Given the description of an element on the screen output the (x, y) to click on. 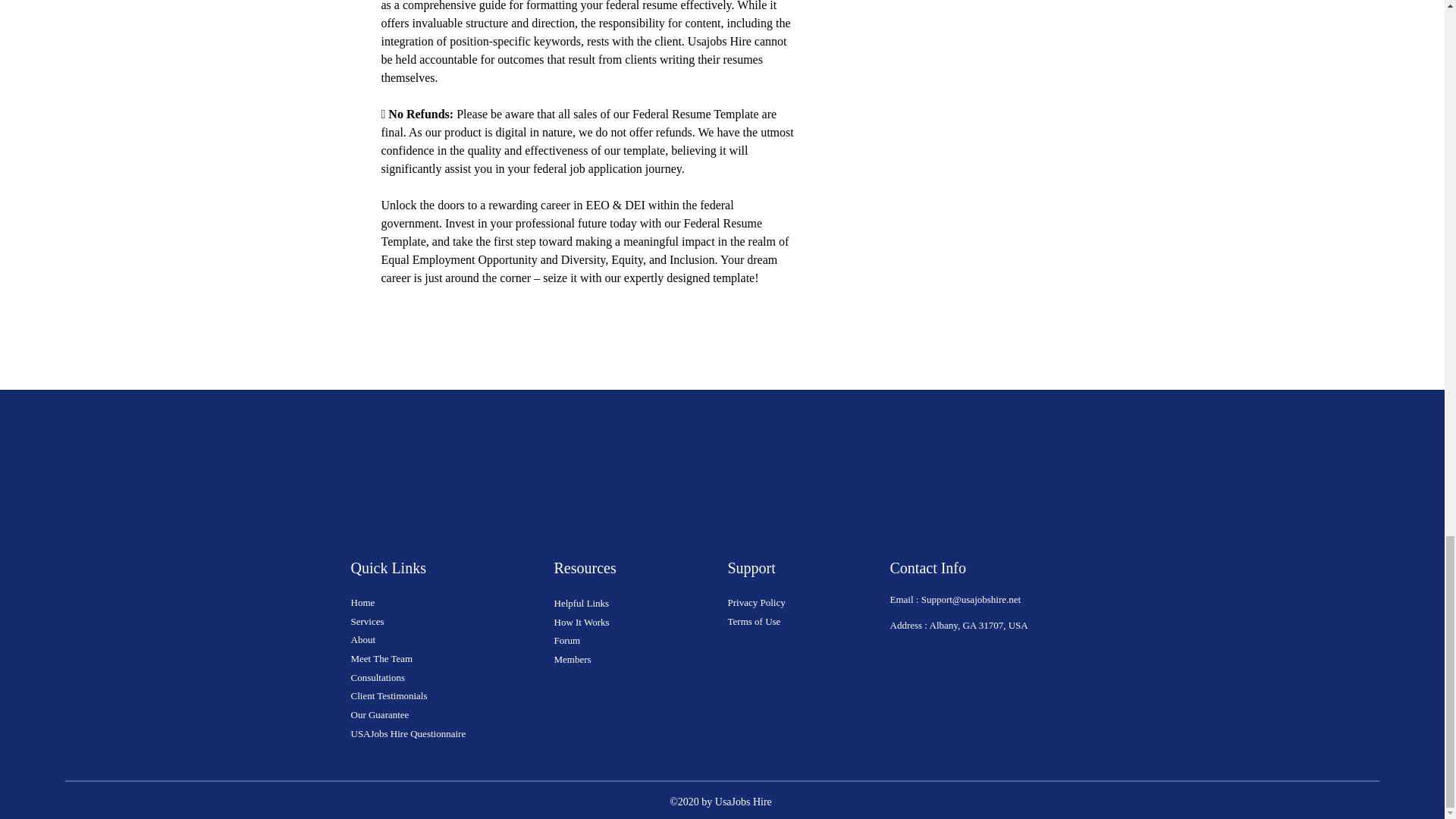
How It Works (580, 622)
Forum (566, 640)
Privacy Policy (757, 602)
Consultations (377, 677)
About (362, 639)
Helpful Links (580, 603)
Client Testimonials  (389, 695)
Our Guarantee (379, 714)
Home (362, 602)
USAJobs Hire Questionnaire (407, 733)
